Given the description of an element on the screen output the (x, y) to click on. 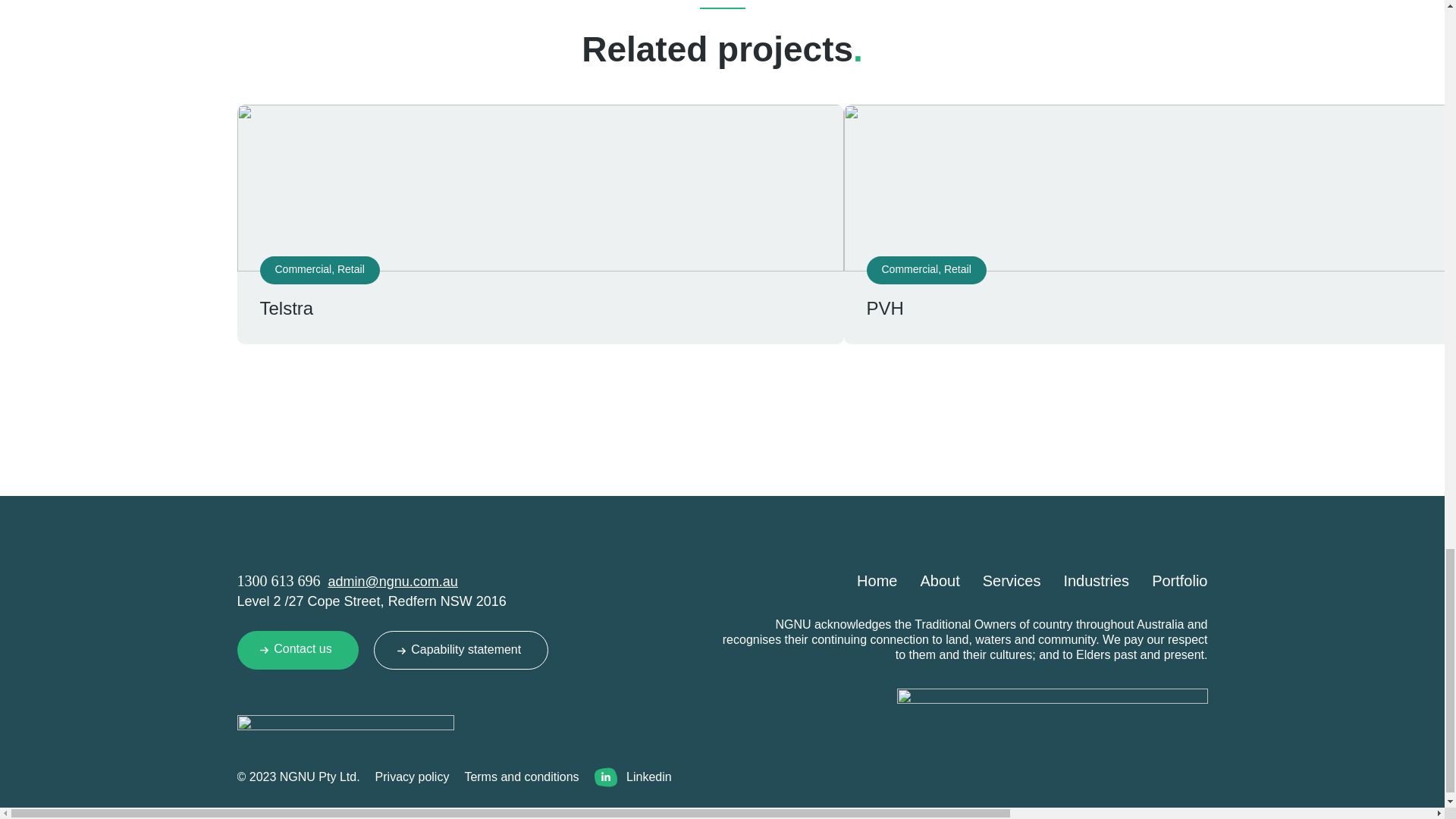
Commercial (908, 268)
Telstra (286, 308)
Retail (351, 268)
Commercial (303, 268)
